Given the description of an element on the screen output the (x, y) to click on. 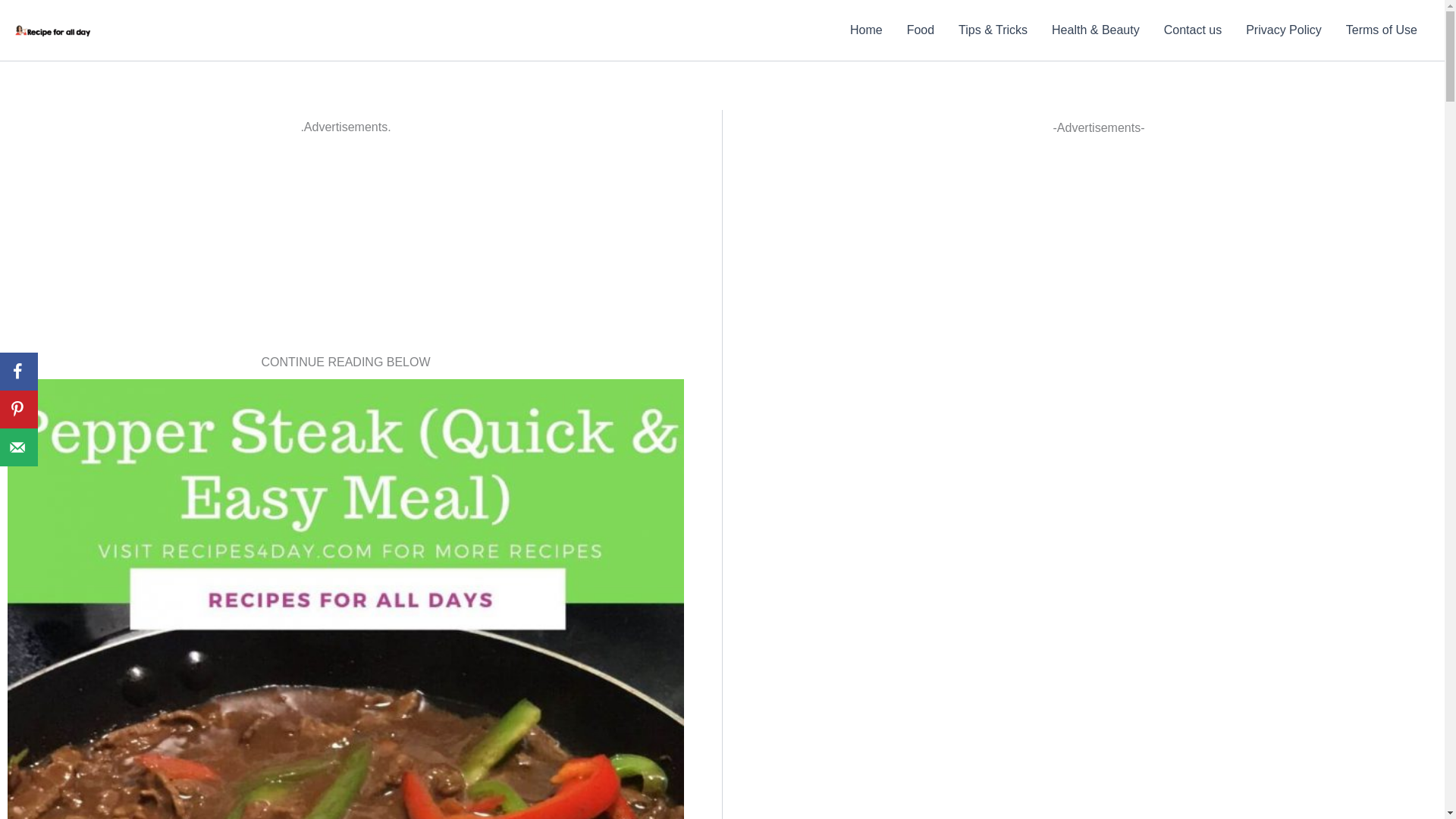
Terms of Use (1381, 30)
Contact us (1192, 30)
Privacy Policy (1283, 30)
Home (866, 30)
Advertisement (344, 244)
